Given the description of an element on the screen output the (x, y) to click on. 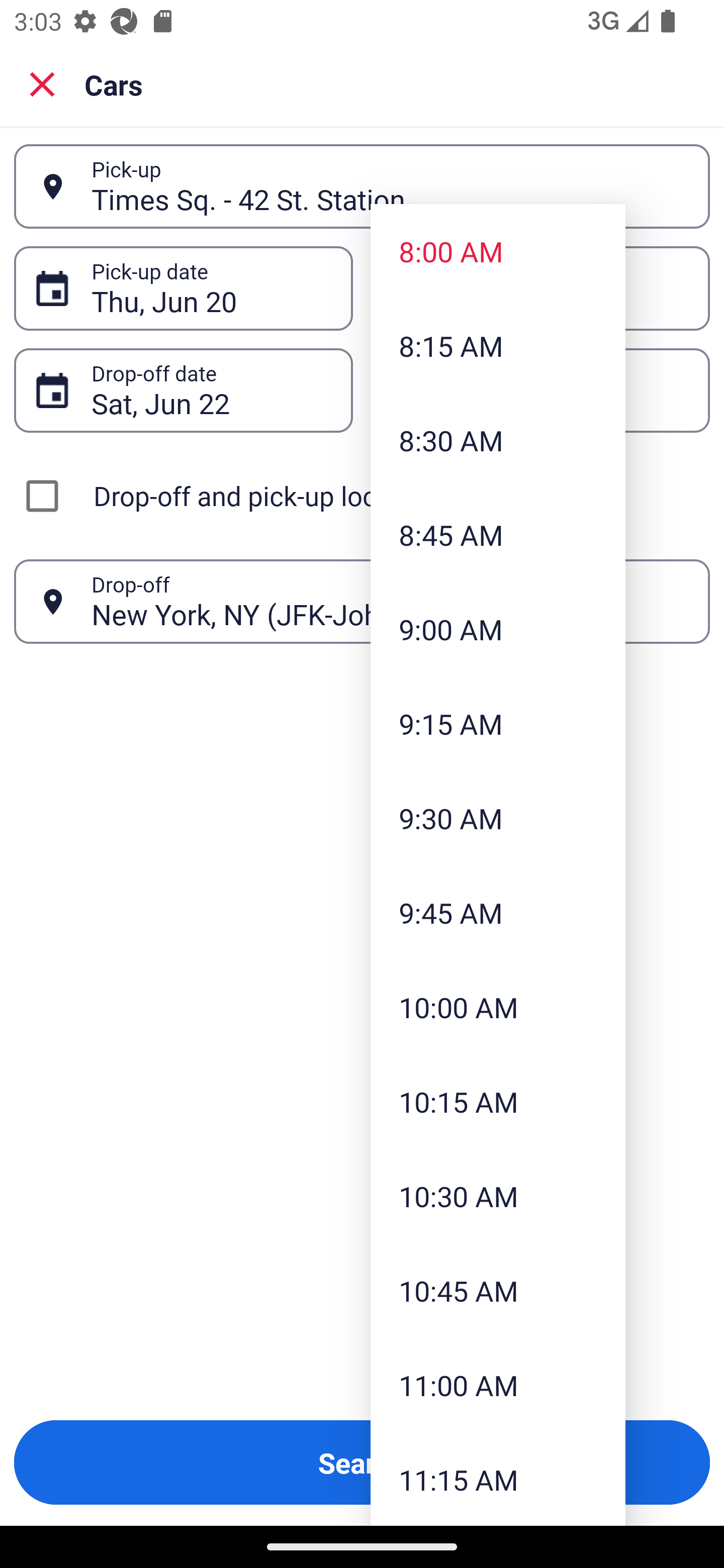
8:00 AM (497, 250)
8:15 AM (497, 345)
8:30 AM (497, 440)
8:45 AM (497, 534)
9:00 AM (497, 628)
9:15 AM (497, 723)
9:30 AM (497, 818)
9:45 AM (497, 912)
10:00 AM (497, 1006)
10:15 AM (497, 1101)
10:30 AM (497, 1196)
10:45 AM (497, 1290)
11:00 AM (497, 1384)
11:15 AM (497, 1478)
